Given the description of an element on the screen output the (x, y) to click on. 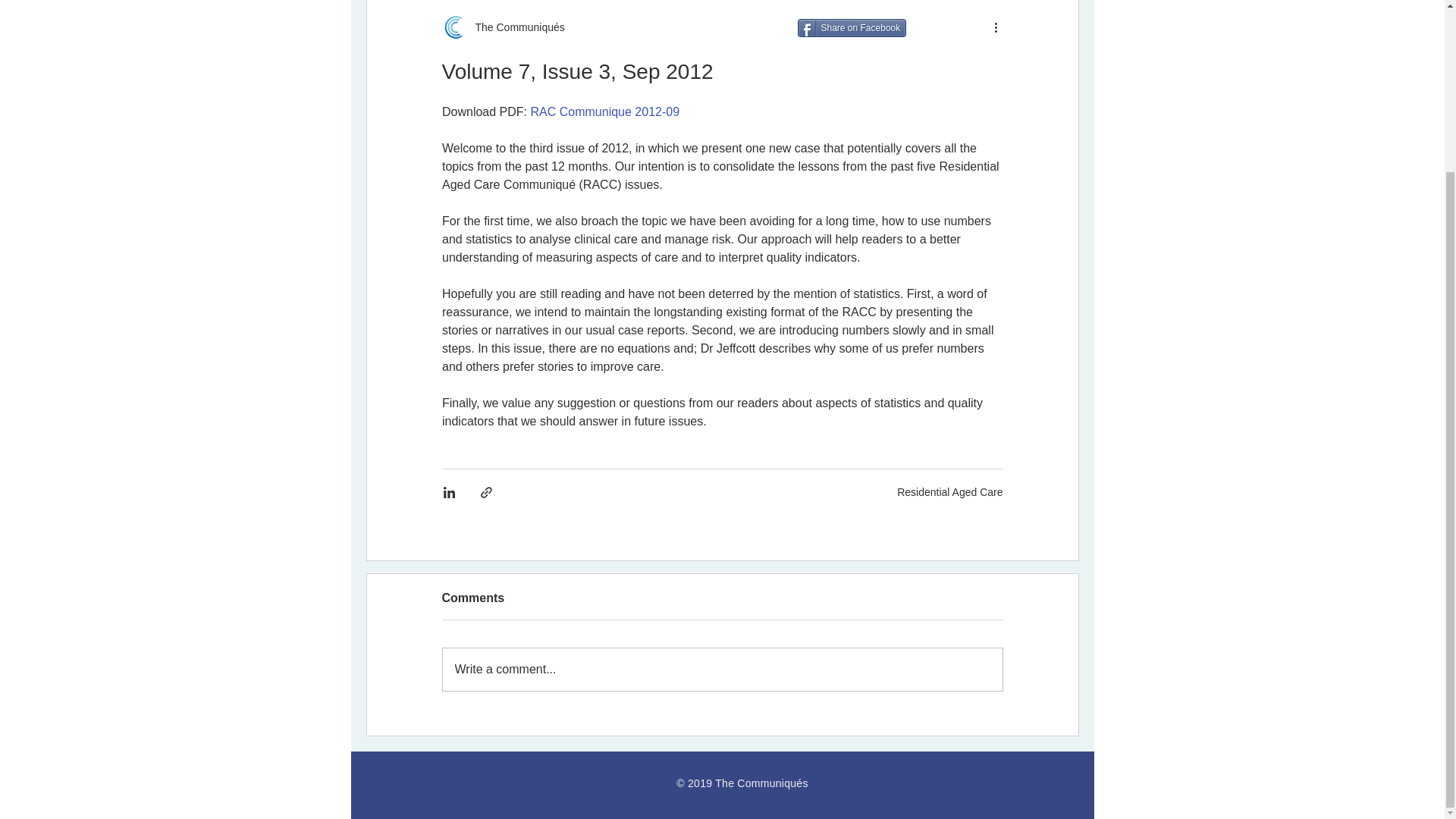
Write a comment... (722, 669)
Share on Facebook (852, 27)
Residential Aged Care (949, 491)
RAC Communique 2012-09 (604, 111)
Share on Facebook (852, 27)
Twitter Tweet (947, 28)
